Given the description of an element on the screen output the (x, y) to click on. 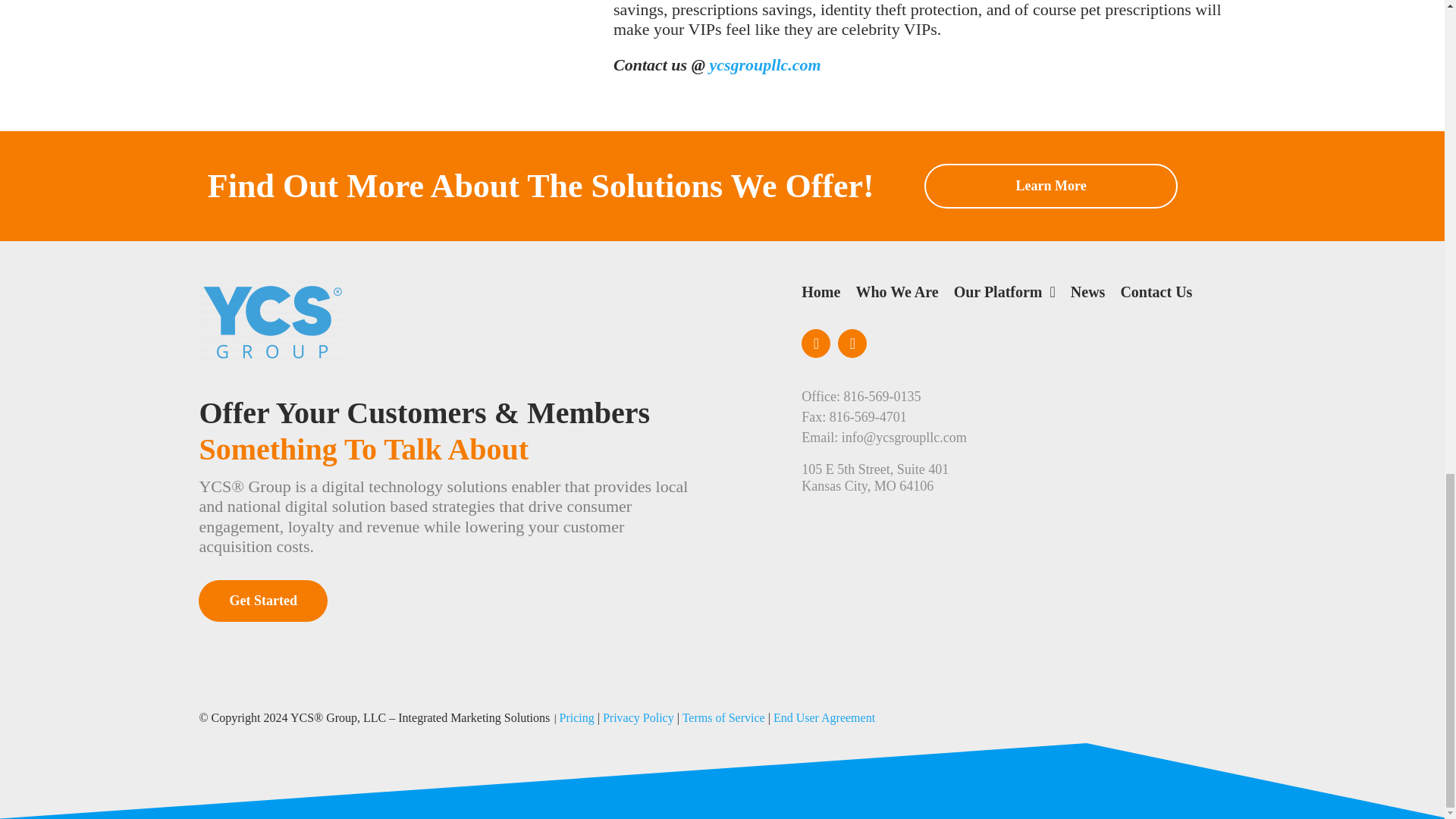
Contact Us (1155, 298)
Home (821, 298)
Privacy Policy (638, 717)
Learn More (1050, 185)
Get Started (262, 600)
End User Agreement (824, 717)
Pricing (576, 717)
Terms of Service (723, 717)
Who We Are (896, 298)
Our Platform (1004, 298)
